Given the description of an element on the screen output the (x, y) to click on. 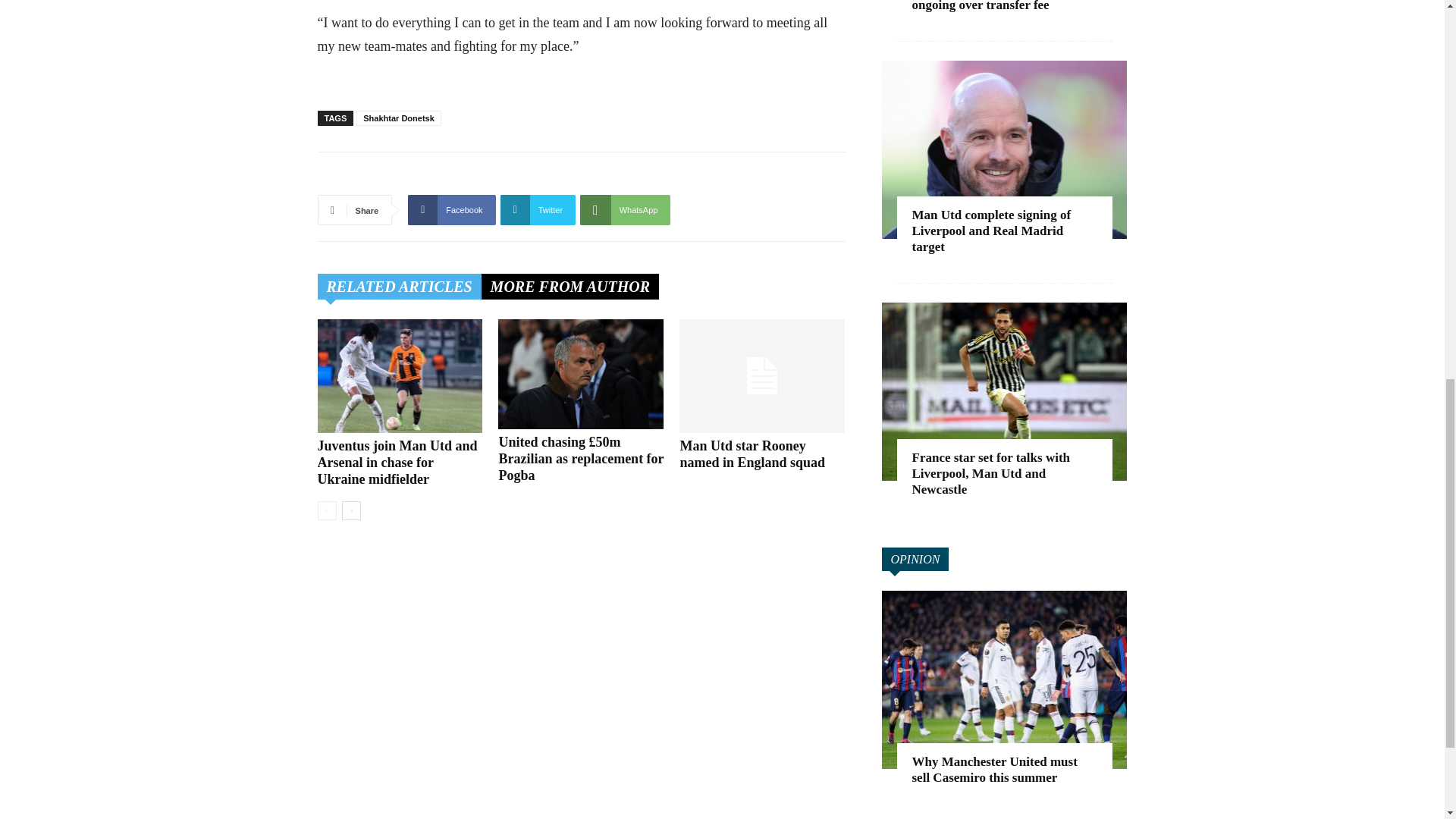
Facebook (451, 209)
Shakhtar Donetsk (398, 118)
bottomFacebookLike (430, 176)
Facebook (451, 209)
